Given the description of an element on the screen output the (x, y) to click on. 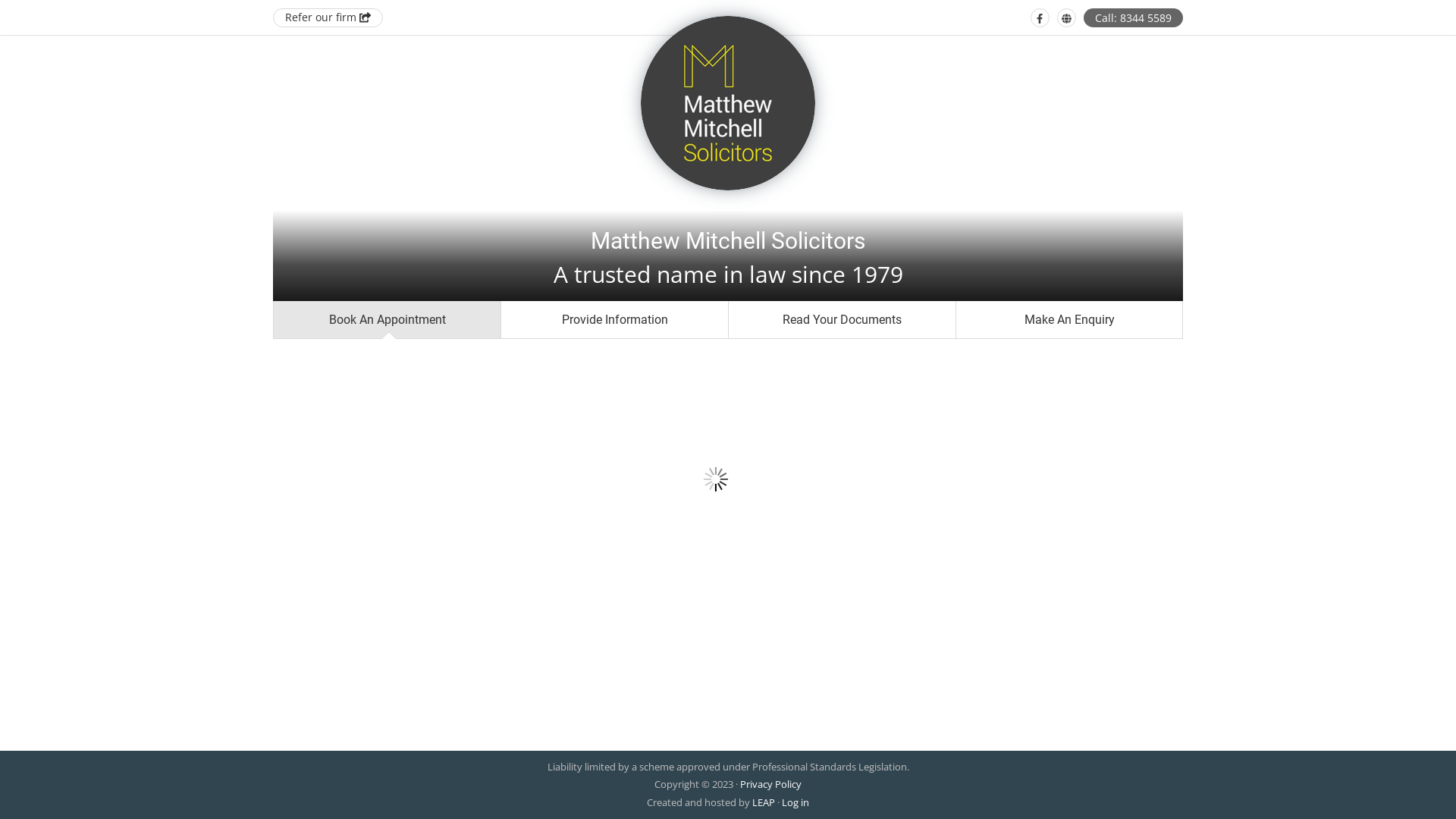
Skip to main content Element type: text (0, 0)
Make An Enquiry Element type: text (1069, 319)
Back to website Element type: hover (1066, 17)
Read Your Documents Element type: text (841, 319)
Refer our firm Element type: text (327, 18)
Book An Appointment Element type: text (386, 319)
Call: 8344 5589 Element type: text (1133, 17)
Facebook Element type: hover (1039, 17)
Log in Element type: text (795, 802)
Privacy Policy Element type: text (770, 783)
Provide Information Element type: text (614, 319)
LEAP Element type: text (763, 802)
